Given the description of an element on the screen output the (x, y) to click on. 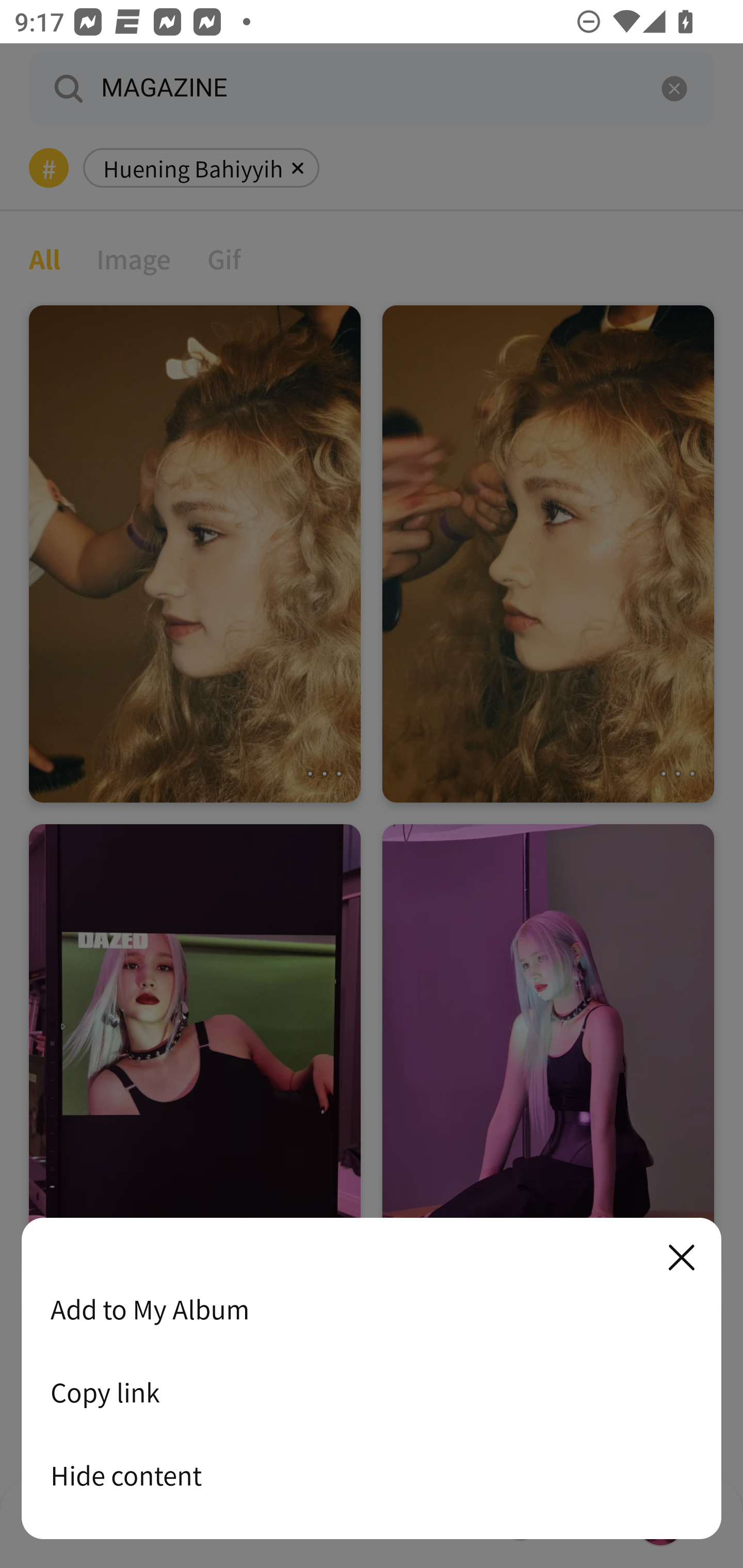
Add to My Album Copy link Hide content (371, 1378)
Add to My Album (371, 1308)
Copy link (371, 1391)
Hide content (371, 1474)
